Given the description of an element on the screen output the (x, y) to click on. 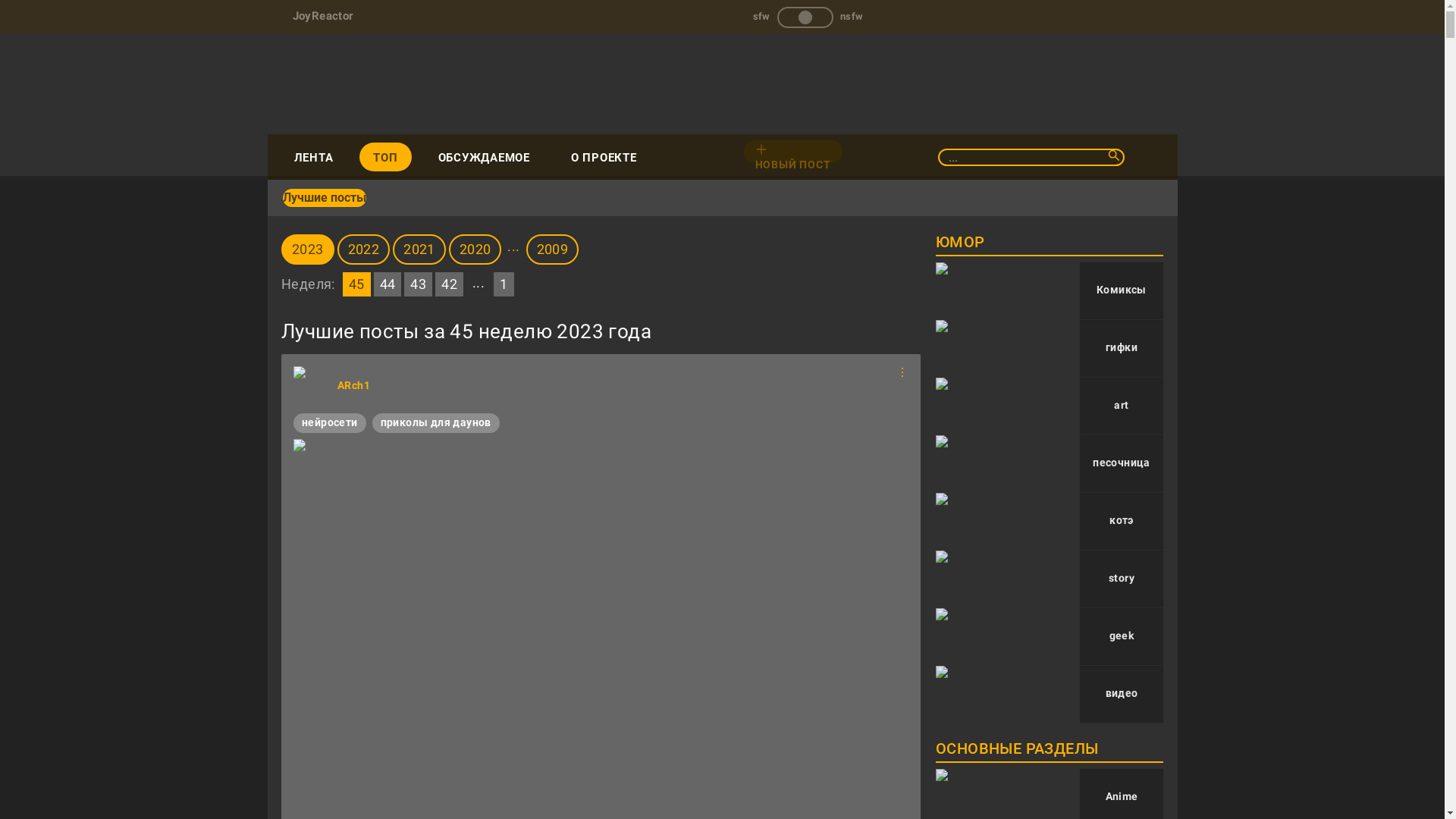
story Element type: text (1049, 578)
44 Element type: text (387, 284)
ARch1 Element type: hover (312, 385)
1 Element type: text (503, 284)
2021 Element type: text (420, 252)
42 Element type: text (448, 284)
2022 Element type: text (365, 252)
2009 Element type: text (554, 252)
geek Element type: text (1049, 636)
art Element type: text (1049, 405)
45 Element type: text (356, 284)
2023 Element type: text (309, 252)
2020 Element type: text (476, 252)
43 Element type: text (417, 284)
ARch1 Element type: text (353, 384)
